Given the description of an element on the screen output the (x, y) to click on. 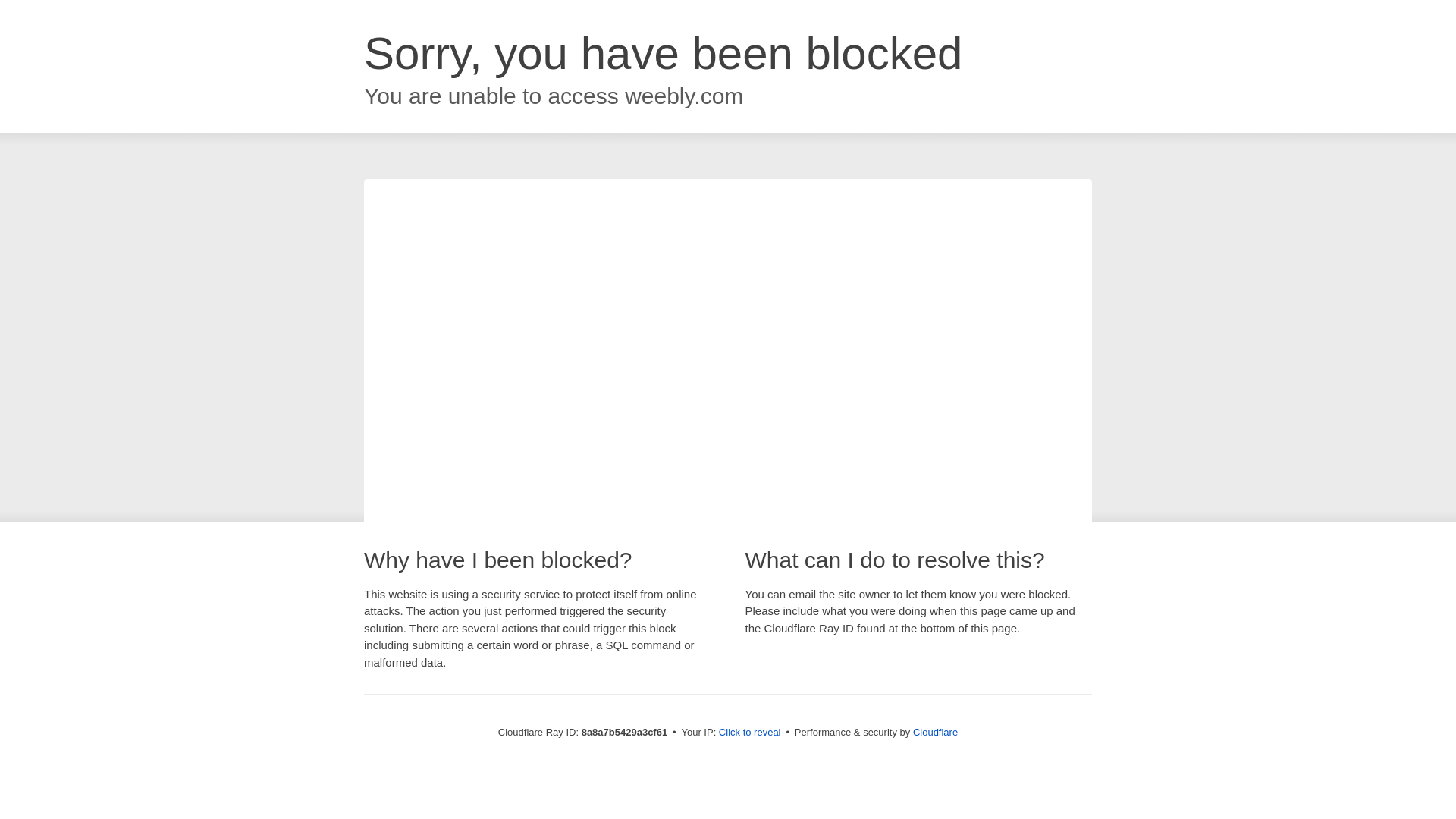
Click to reveal (749, 732)
Cloudflare (935, 731)
